Given the description of an element on the screen output the (x, y) to click on. 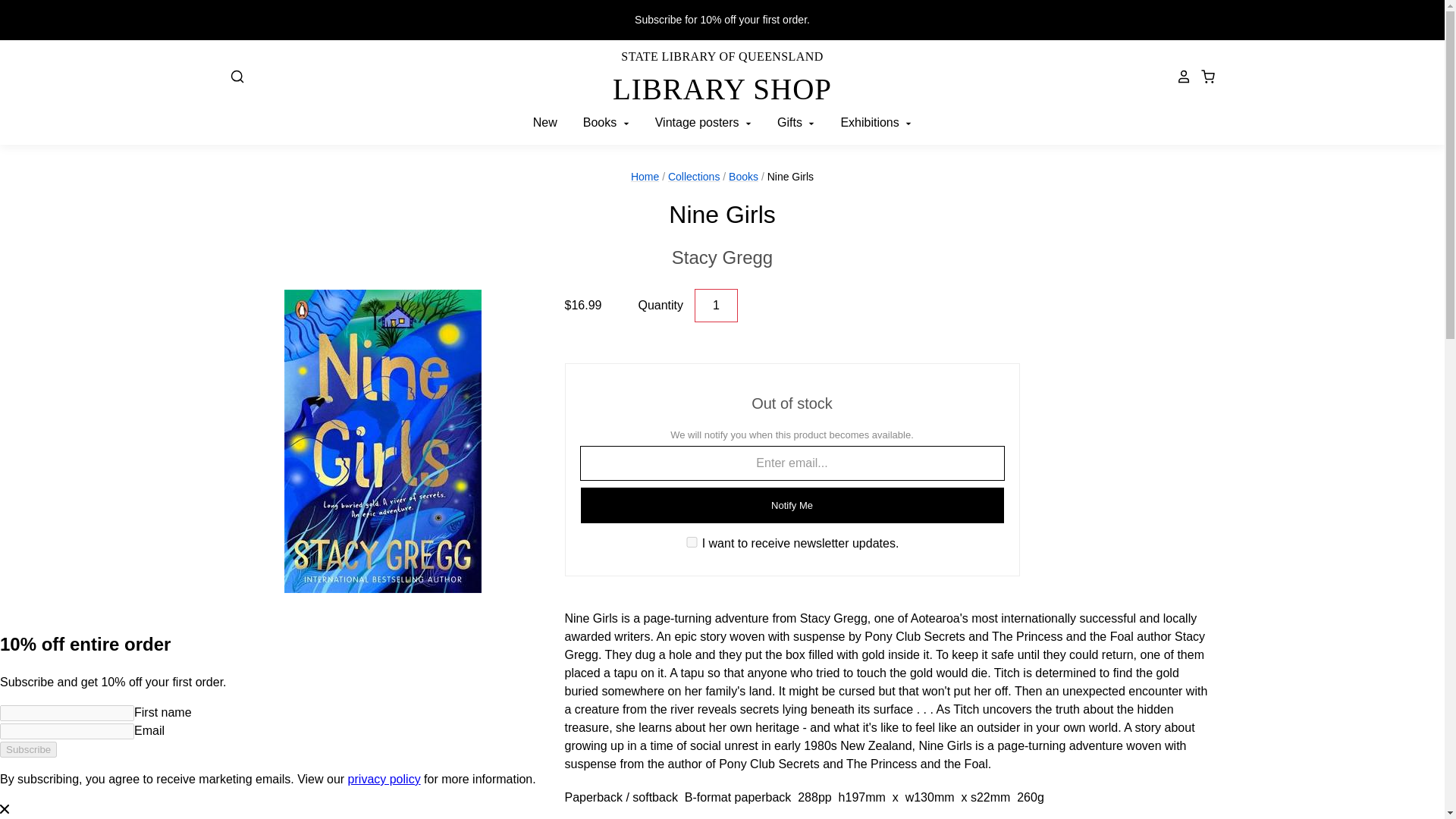
on (691, 542)
1 (722, 257)
